Given the description of an element on the screen output the (x, y) to click on. 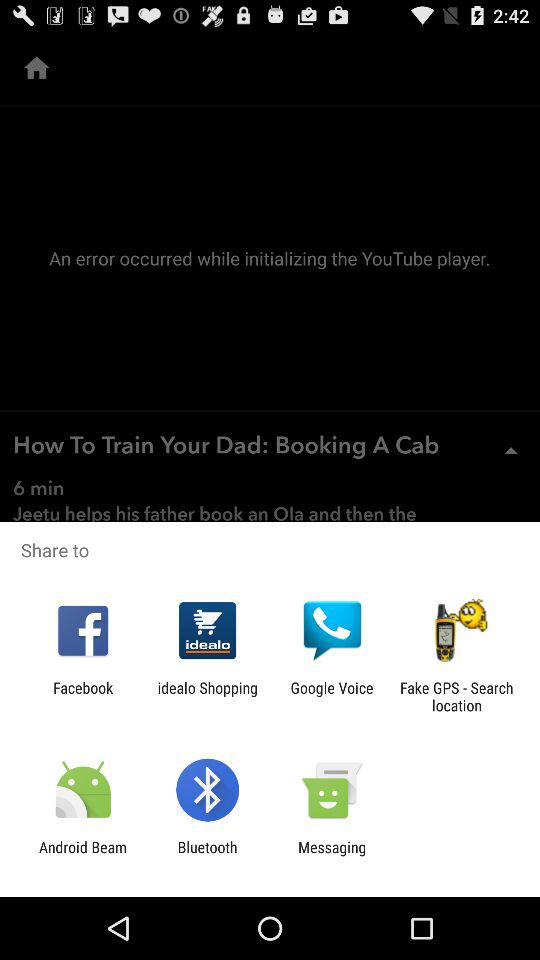
turn off app to the right of google voice (456, 696)
